Given the description of an element on the screen output the (x, y) to click on. 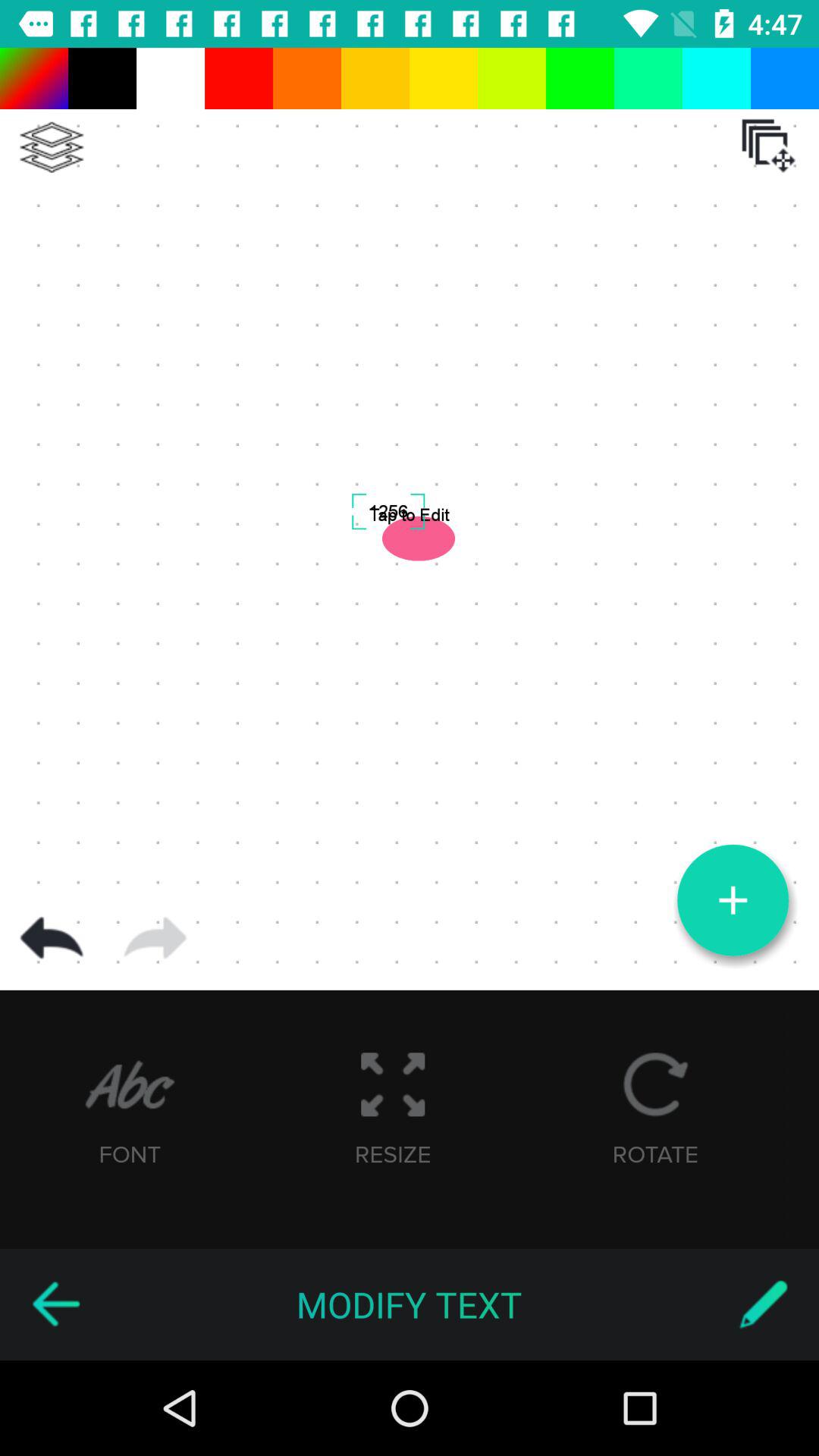
select the item to the right of the modify text item (763, 1304)
